Given the description of an element on the screen output the (x, y) to click on. 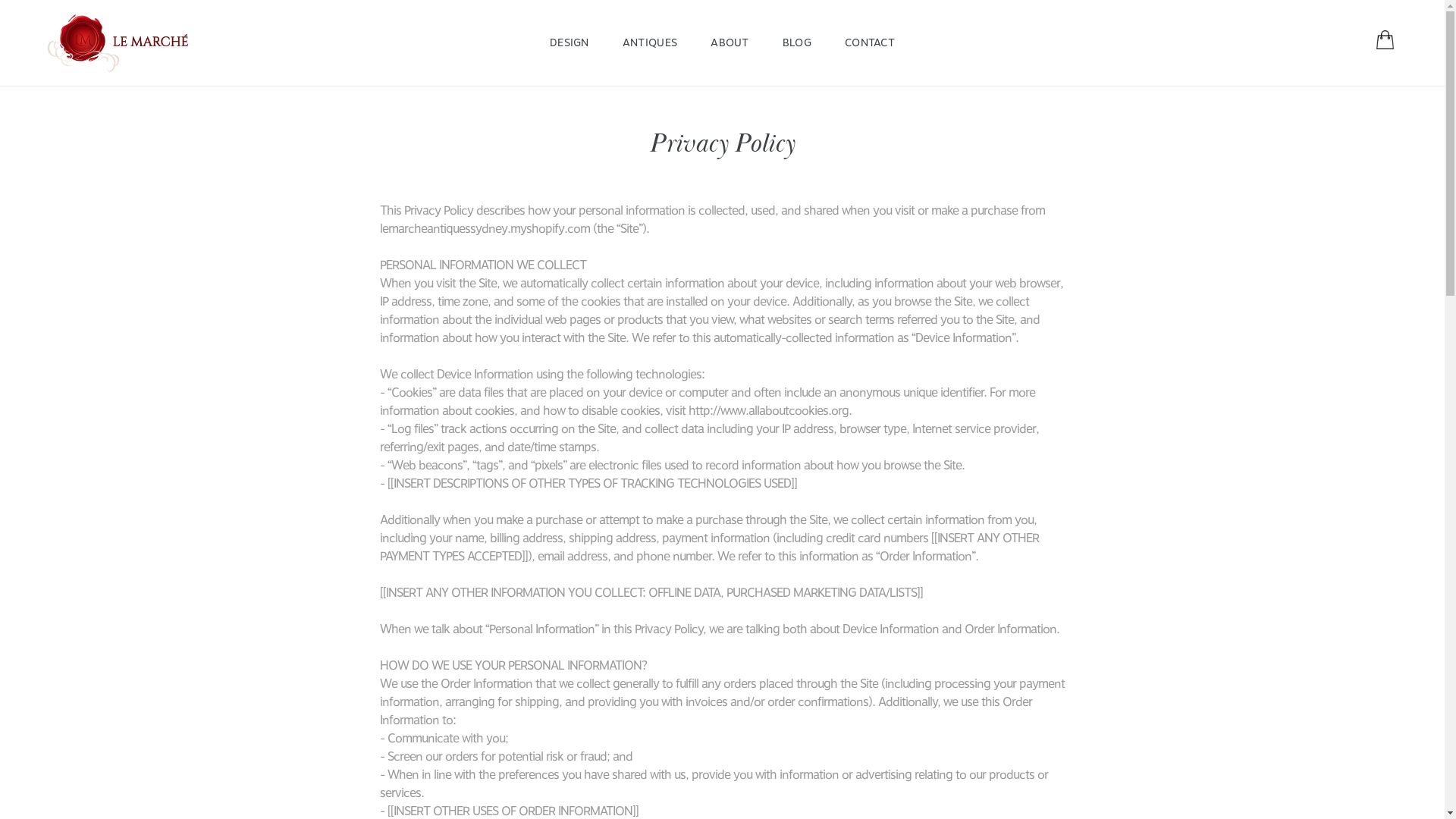
CONTACT Element type: text (869, 42)
ANTIQUES Element type: text (649, 42)
Cart Element type: text (1384, 42)
DESIGN Element type: text (569, 42)
BLOG Element type: text (796, 42)
ABOUT Element type: text (729, 42)
